Given the description of an element on the screen output the (x, y) to click on. 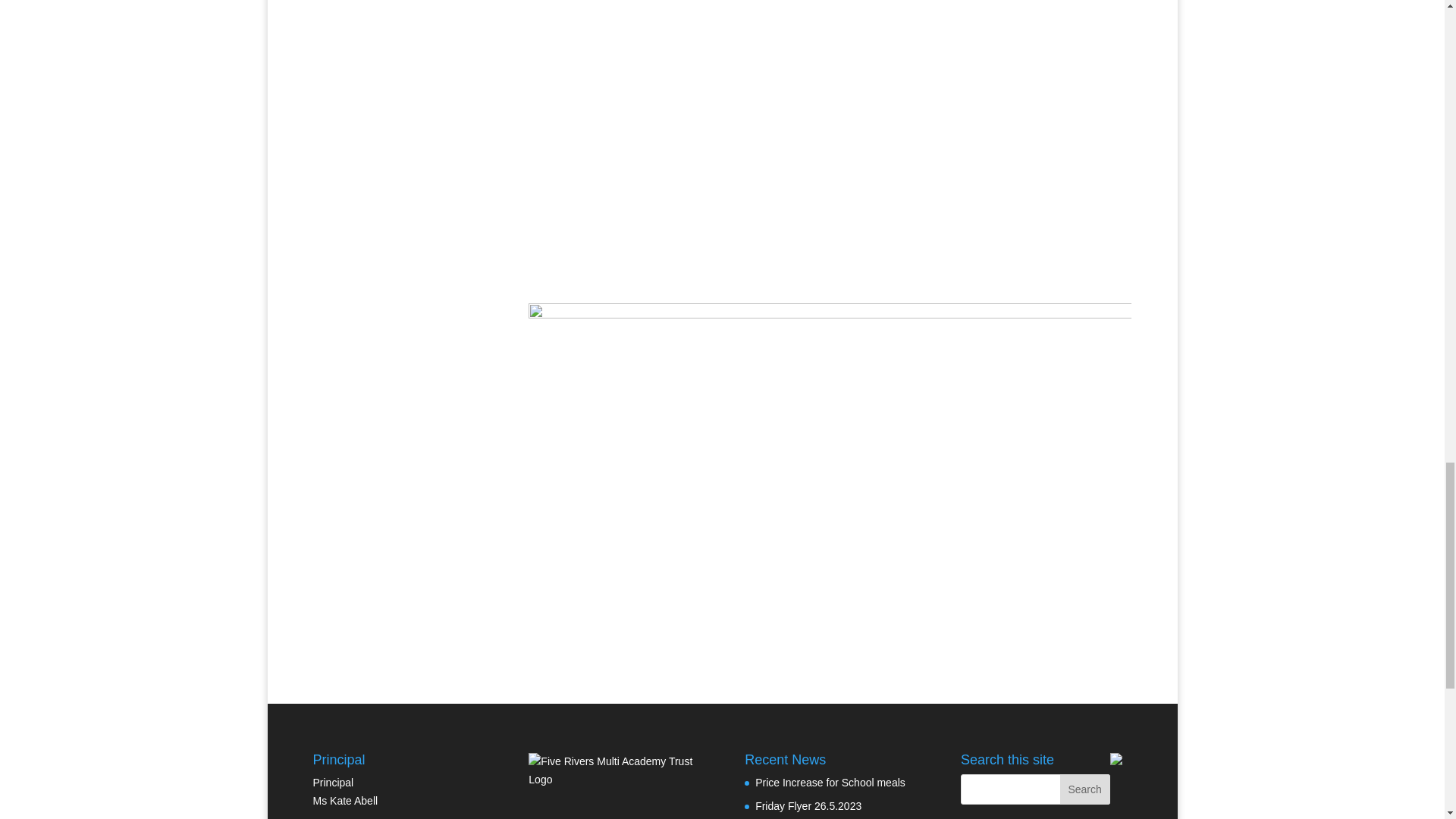
Search (1084, 788)
